Given the description of an element on the screen output the (x, y) to click on. 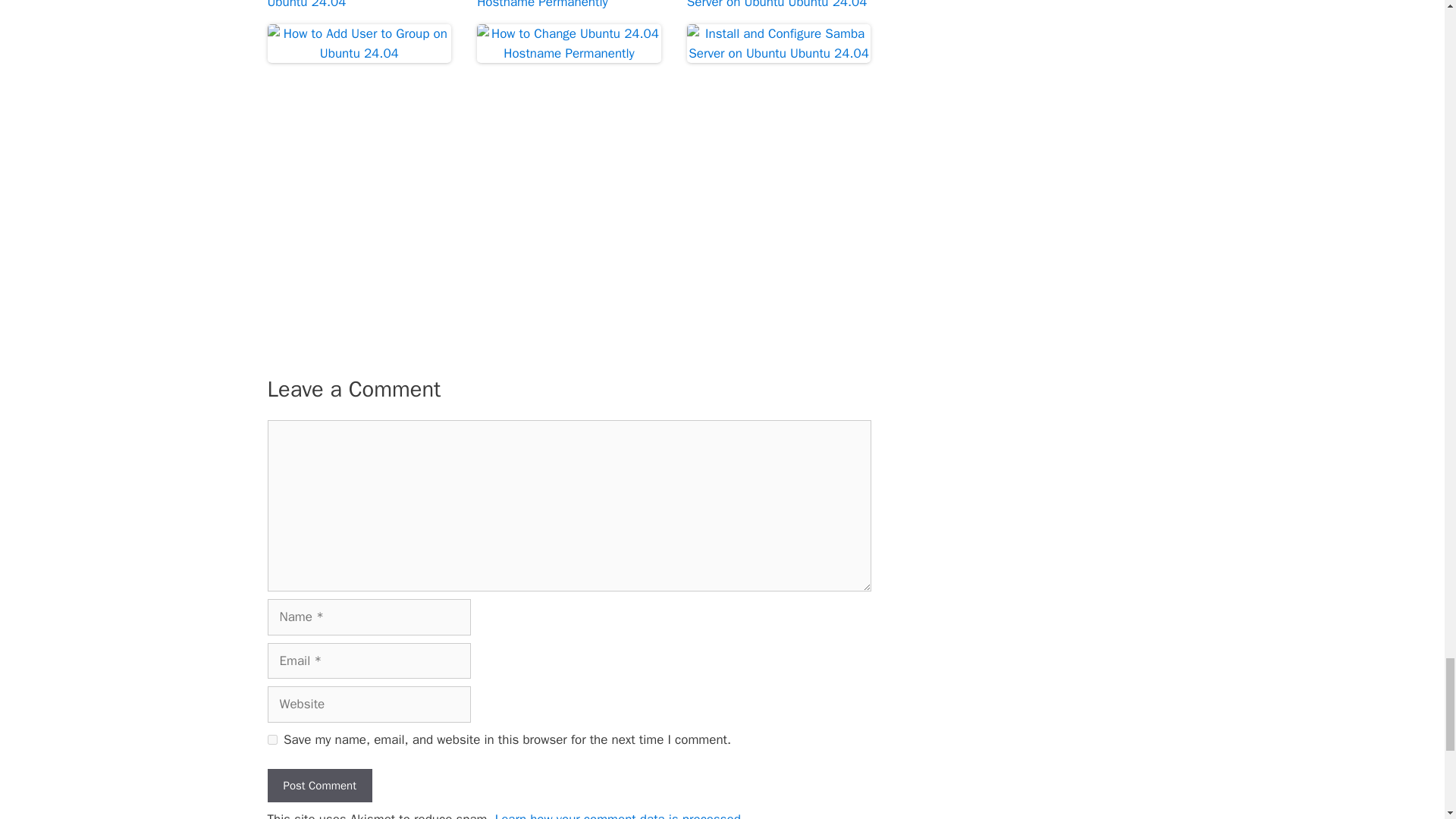
Post Comment (318, 786)
yes (271, 739)
